Given the description of an element on the screen output the (x, y) to click on. 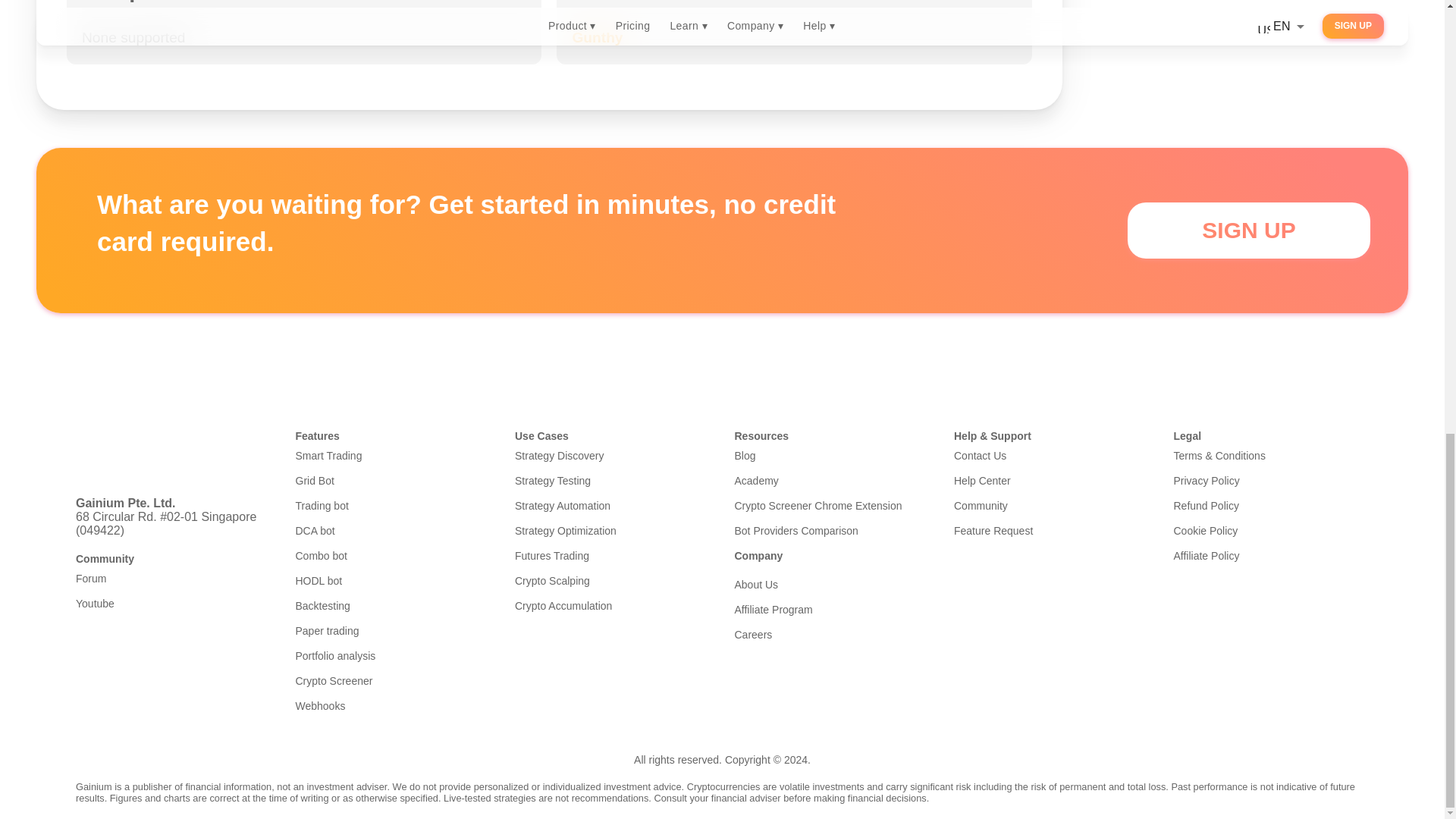
Crypto Scalping (612, 580)
Grid Bot (393, 480)
Strategy Optimization (612, 530)
Academy (831, 480)
Blog (831, 455)
Crypto Screener (393, 680)
Strategy Testing (612, 480)
Crypto Accumulation (612, 605)
Strategy Discovery (612, 455)
DCA bot (393, 530)
Forum (172, 578)
SIGN UP (1248, 230)
Smart Trading (393, 455)
Crypto Screener Chrome Extension (831, 505)
Webhooks (393, 705)
